Given the description of an element on the screen output the (x, y) to click on. 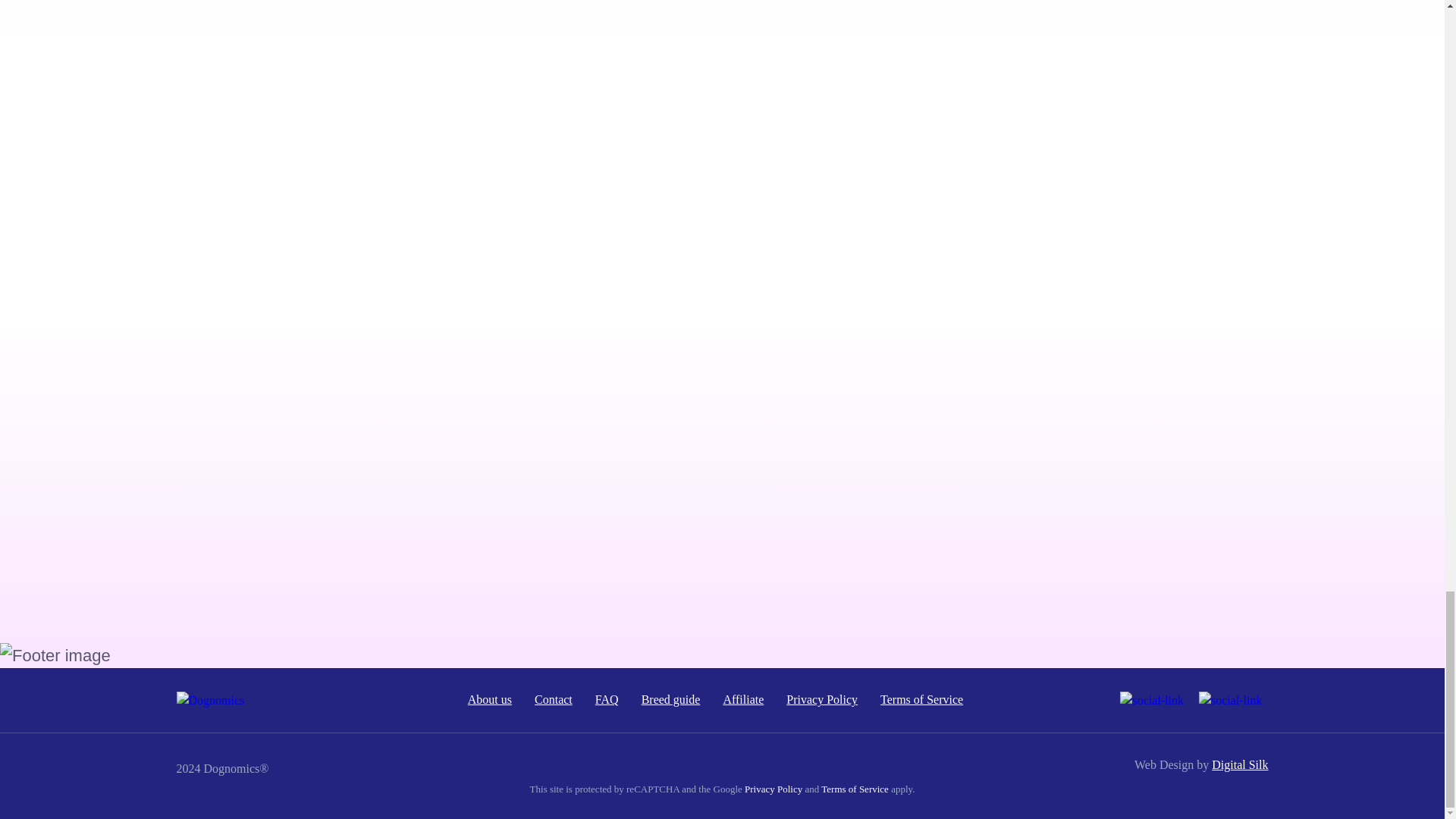
SUBSCRIBE (1019, 570)
FAQ (606, 698)
Affiliate (742, 698)
Privacy Policy (821, 698)
Terms of Service (921, 698)
Breed guide (671, 698)
About us (489, 698)
Contact (553, 698)
